Given the description of an element on the screen output the (x, y) to click on. 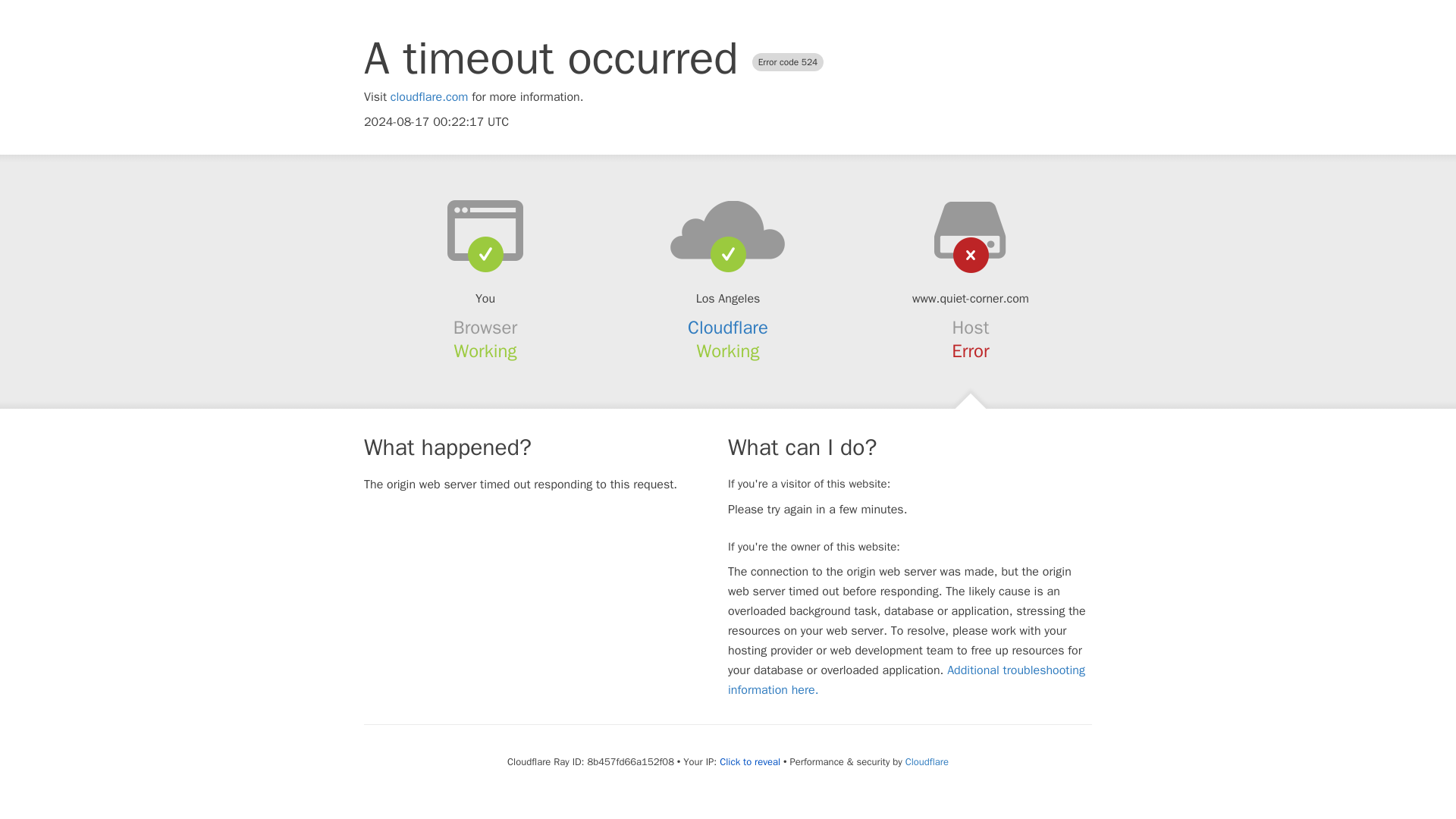
Cloudflare (727, 327)
cloudflare.com (429, 96)
Cloudflare (927, 761)
Click to reveal (749, 762)
Additional troubleshooting information here. (906, 679)
